Given the description of an element on the screen output the (x, y) to click on. 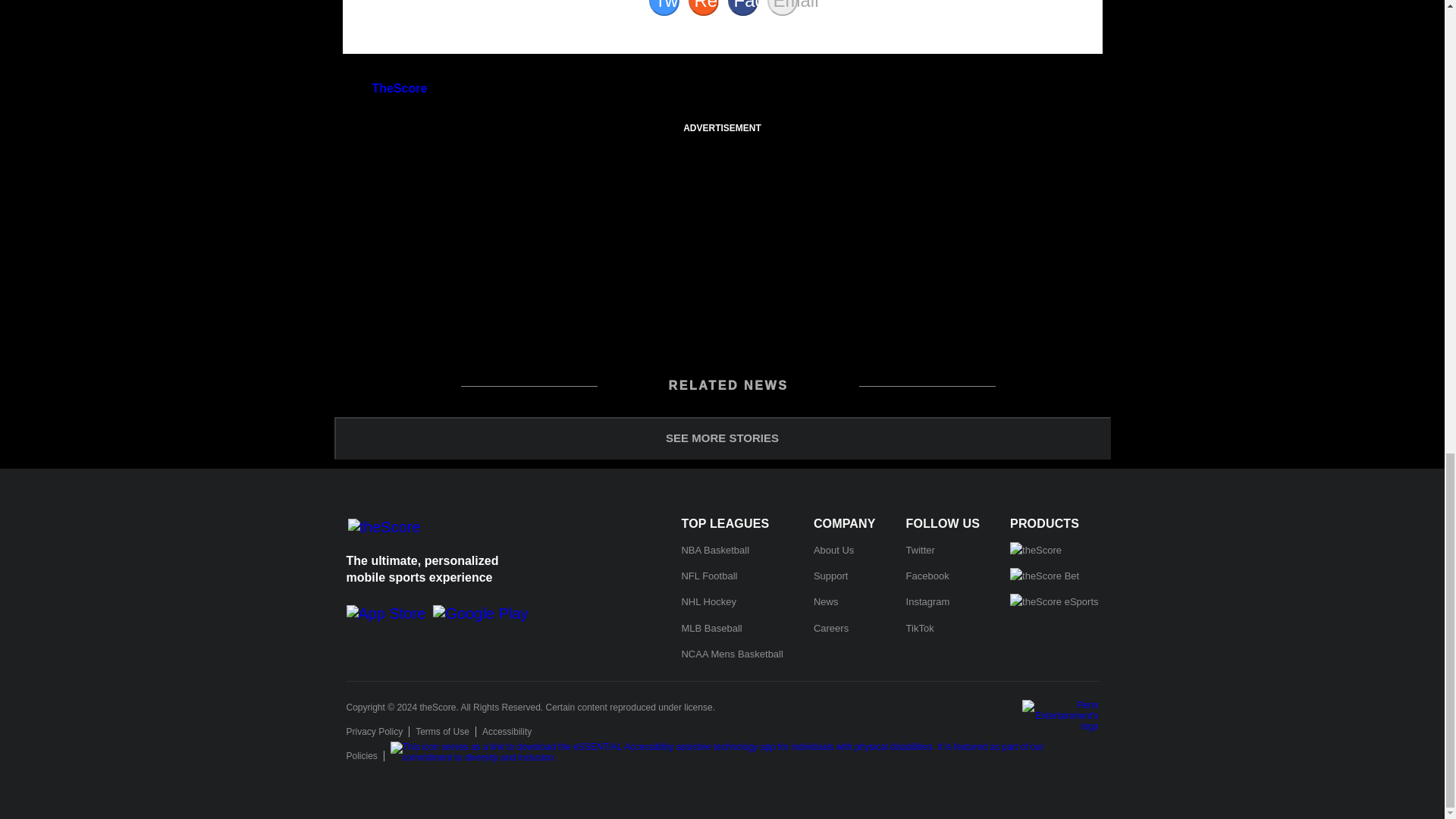
Penn Entertainment (1060, 716)
TikTok (919, 627)
Facebook (743, 7)
Support (830, 575)
Twitter (664, 7)
Email (782, 7)
Instagram (927, 601)
Careers (830, 627)
NHL Hockey (708, 601)
News (825, 601)
Facebook (927, 575)
TheScore (398, 88)
NFL Football (708, 575)
MLB Baseball (711, 627)
Reddit (703, 7)
